Given the description of an element on the screen output the (x, y) to click on. 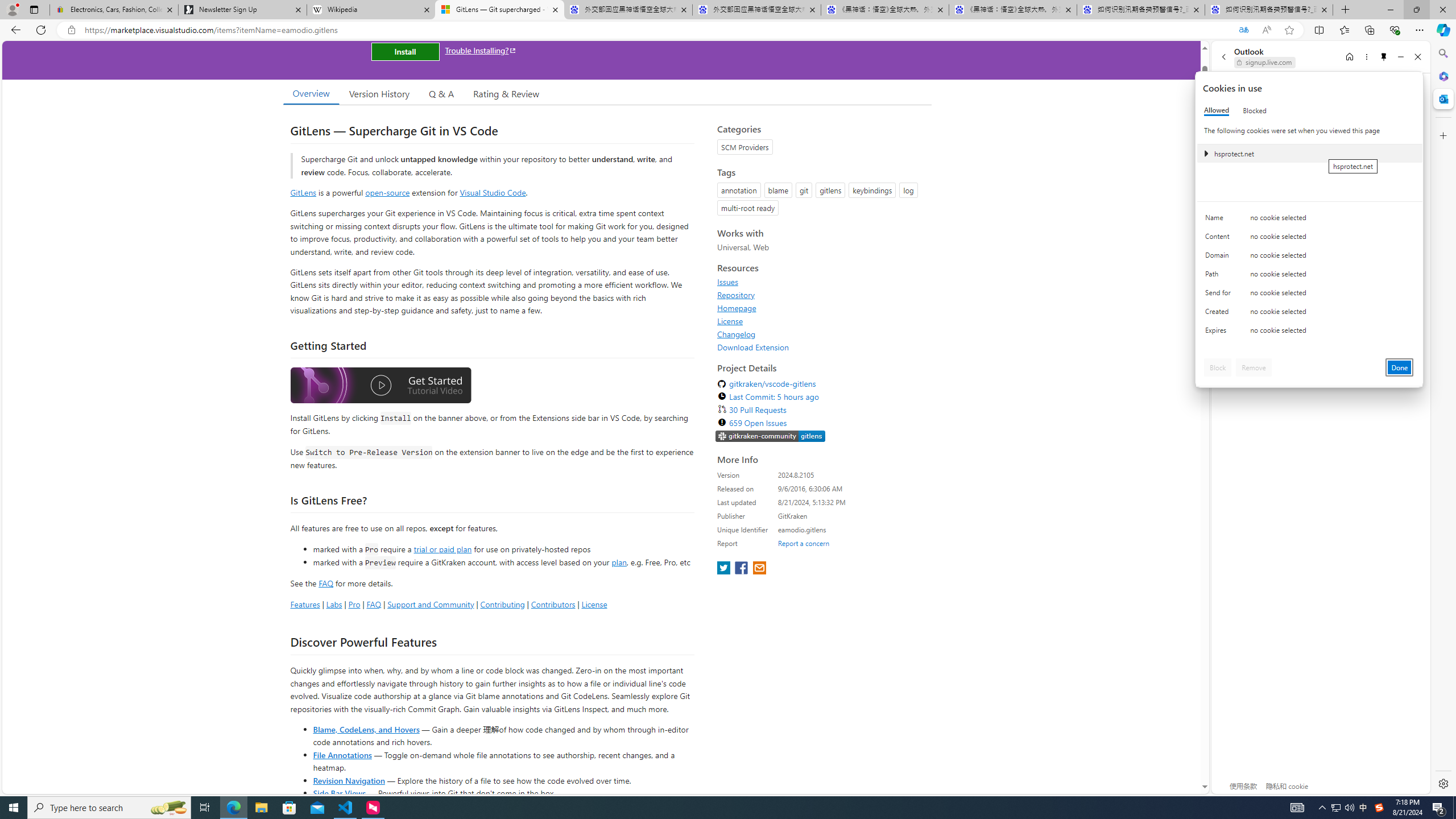
Block (1217, 367)
Expires (1219, 332)
Allowed (1216, 110)
Content (1219, 239)
no cookie selected (1331, 332)
Send for (1219, 295)
Class: c0153 c0157 (1309, 332)
Path (1219, 276)
Class: c0153 c0157 c0154 (1309, 220)
Created (1219, 313)
Name (1219, 220)
Blocked (1255, 110)
Done (1399, 367)
Domain (1219, 257)
Remove (1253, 367)
